Given the description of an element on the screen output the (x, y) to click on. 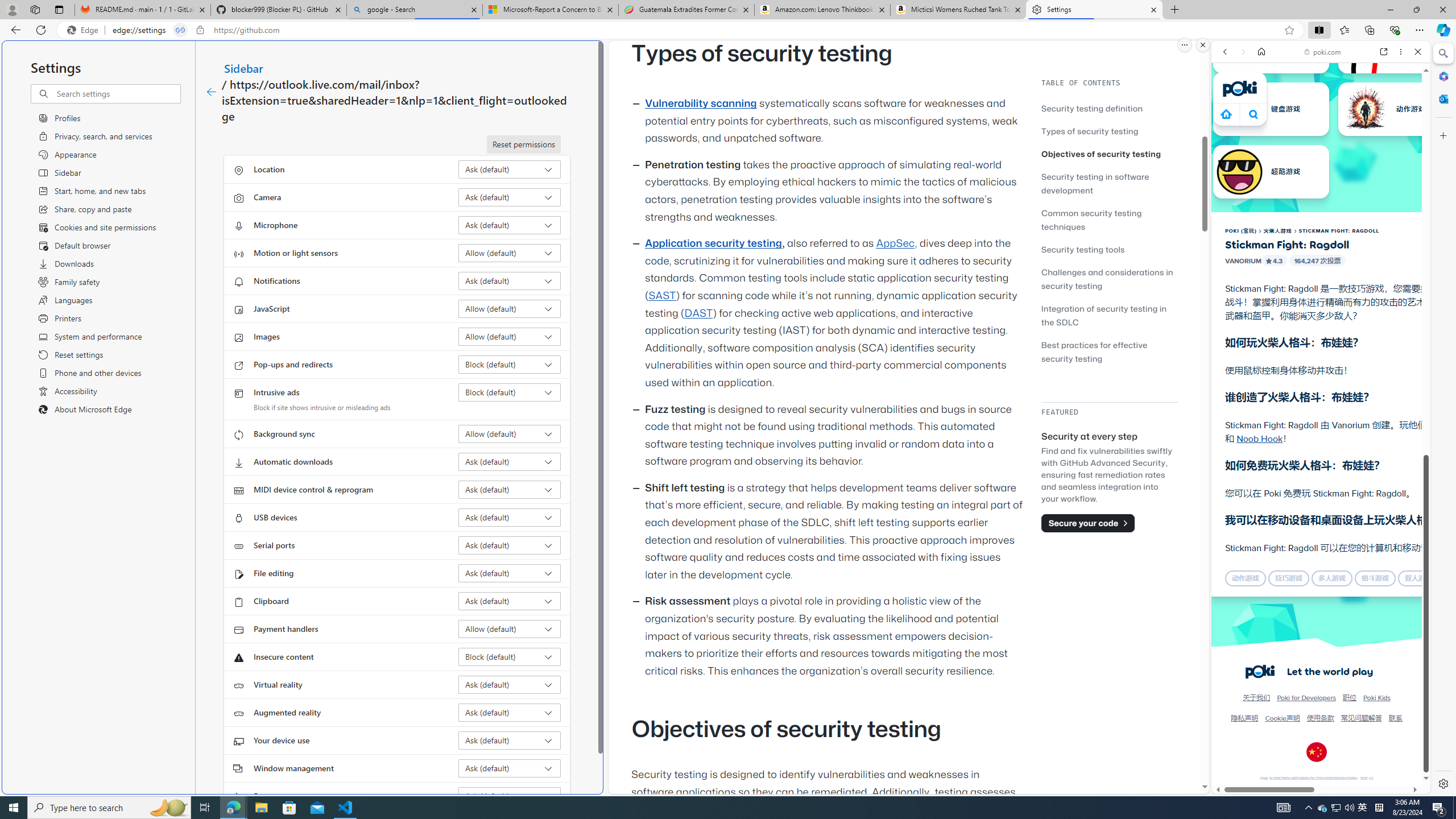
Games for Girls (1320, 406)
Choose language (1316, 752)
Show More Car Games (1390, 268)
Types of security testing (1109, 130)
Best practices for effective security testing (1109, 351)
Show More Shooting Games (1390, 296)
Challenges and considerations in security testing (1109, 279)
Pop-ups and redirects Block (default) (509, 364)
